Given the description of an element on the screen output the (x, y) to click on. 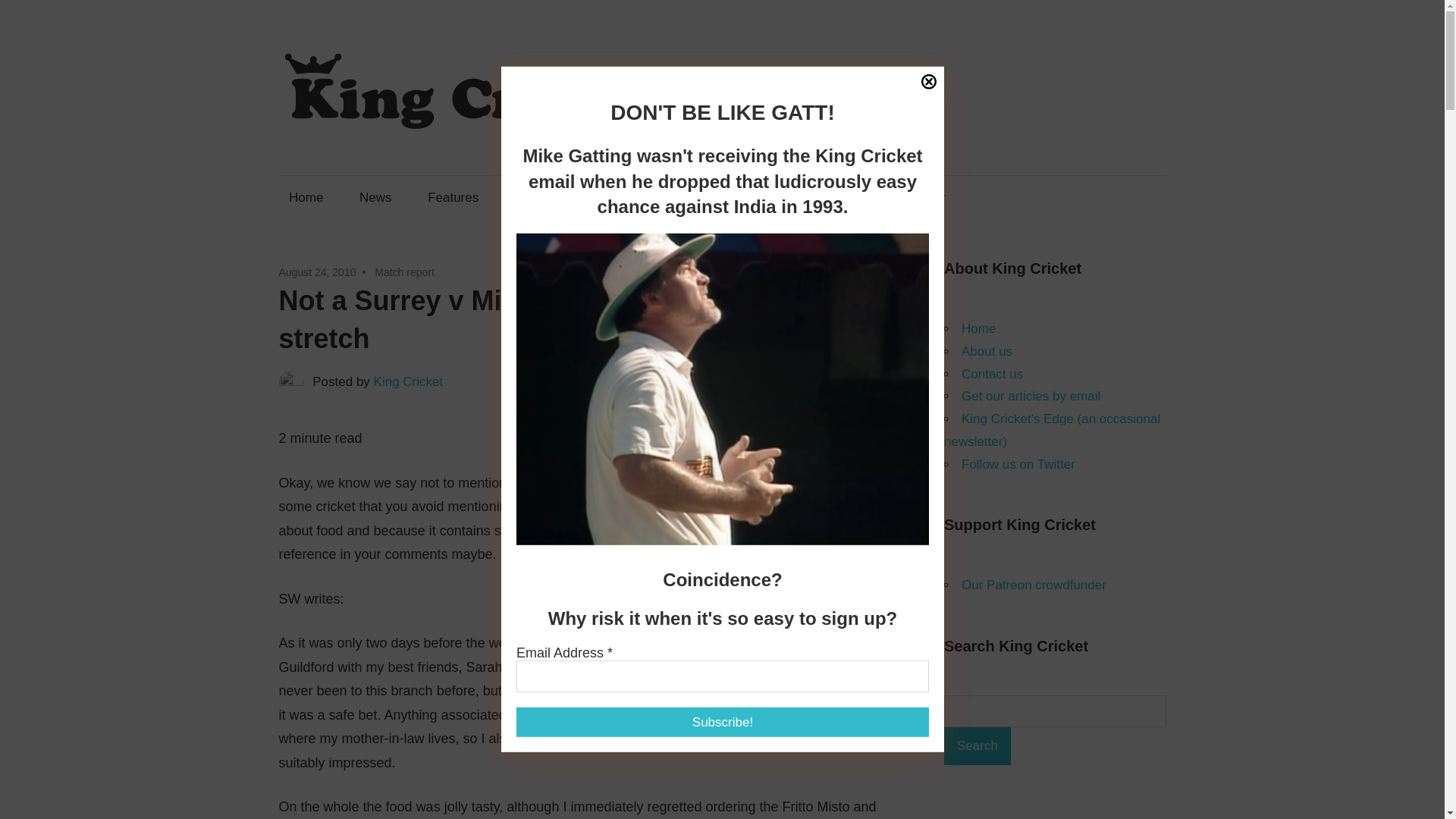
9:01 am (317, 272)
Home (306, 196)
Search (976, 745)
Contact us (631, 196)
August 24, 2010 (317, 272)
Home (977, 328)
Match report (403, 272)
Subscribe! (721, 721)
About us (985, 350)
Subscribe! (752, 693)
View all posts by King Cricket (409, 381)
News (375, 196)
The 2024 King Cricket Essentials Calendar (821, 196)
About us (539, 196)
King Cricket (409, 381)
